Given the description of an element on the screen output the (x, y) to click on. 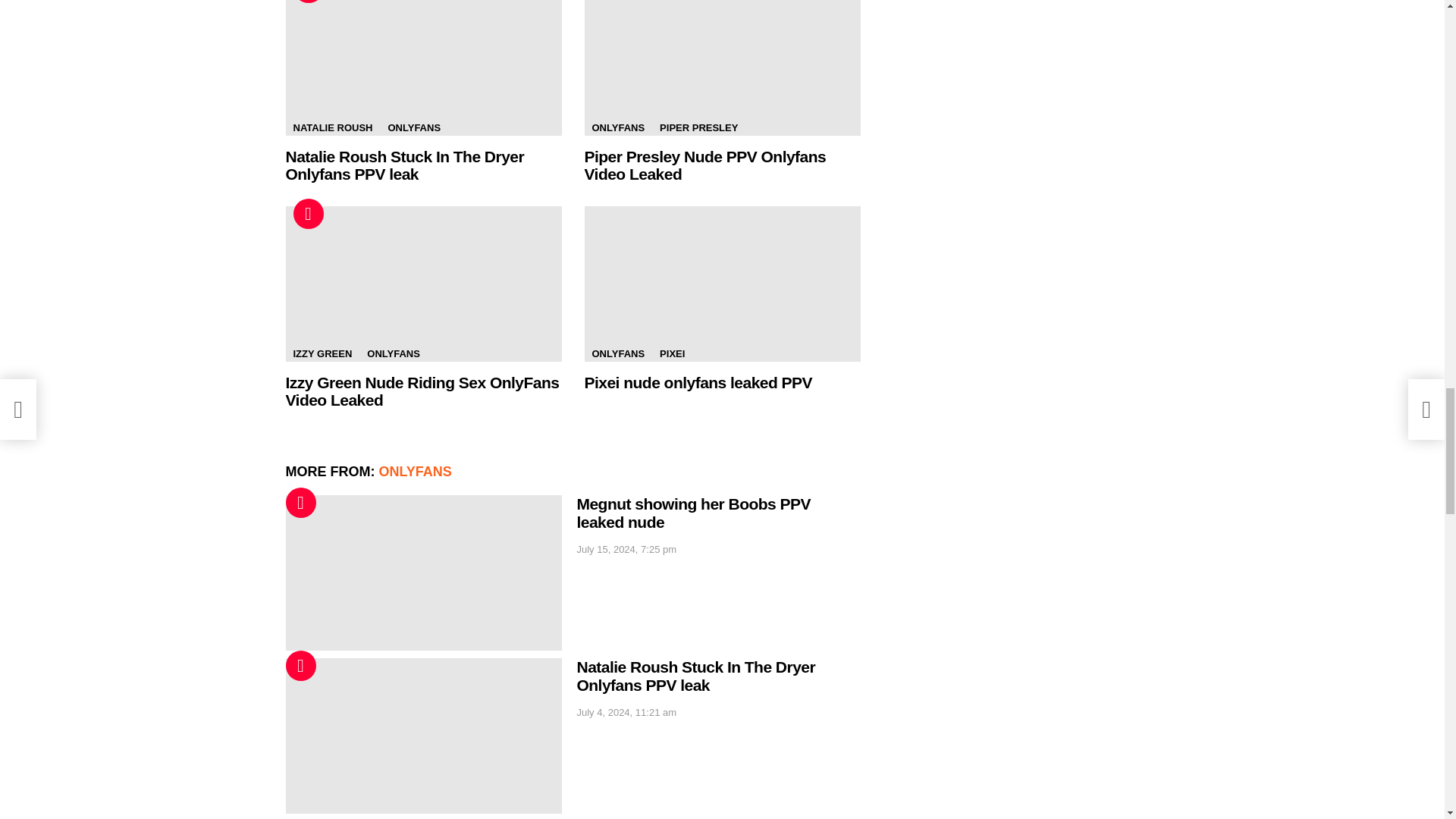
Izzy Green Nude Riding Sex OnlyFans Video Leaked (422, 283)
Hot (307, 1)
Piper Presley Nude  PPV Onlyfans Video Leaked (721, 67)
Natalie Roush Stuck In The Dryer Onlyfans PPV leak (422, 67)
